Given the description of an element on the screen output the (x, y) to click on. 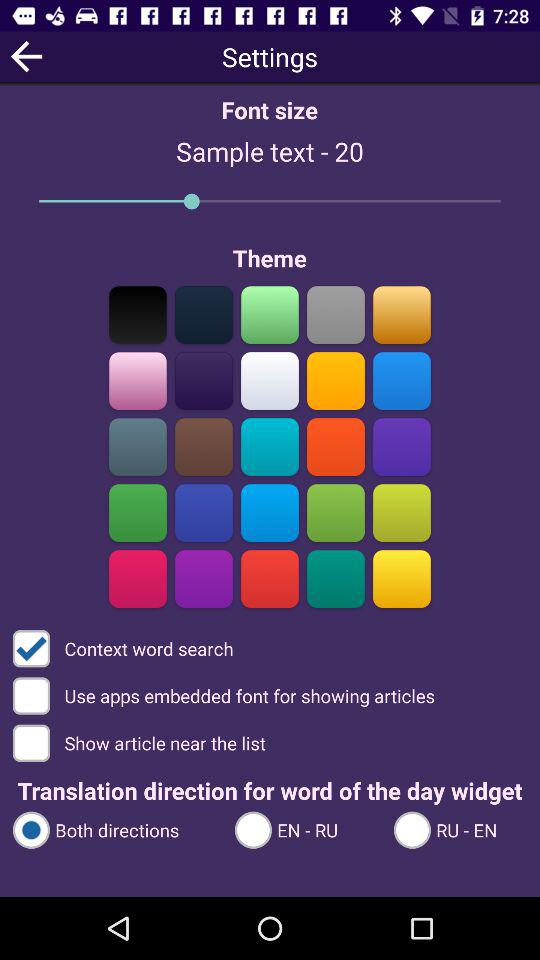
select this colour option (269, 512)
